Given the description of an element on the screen output the (x, y) to click on. 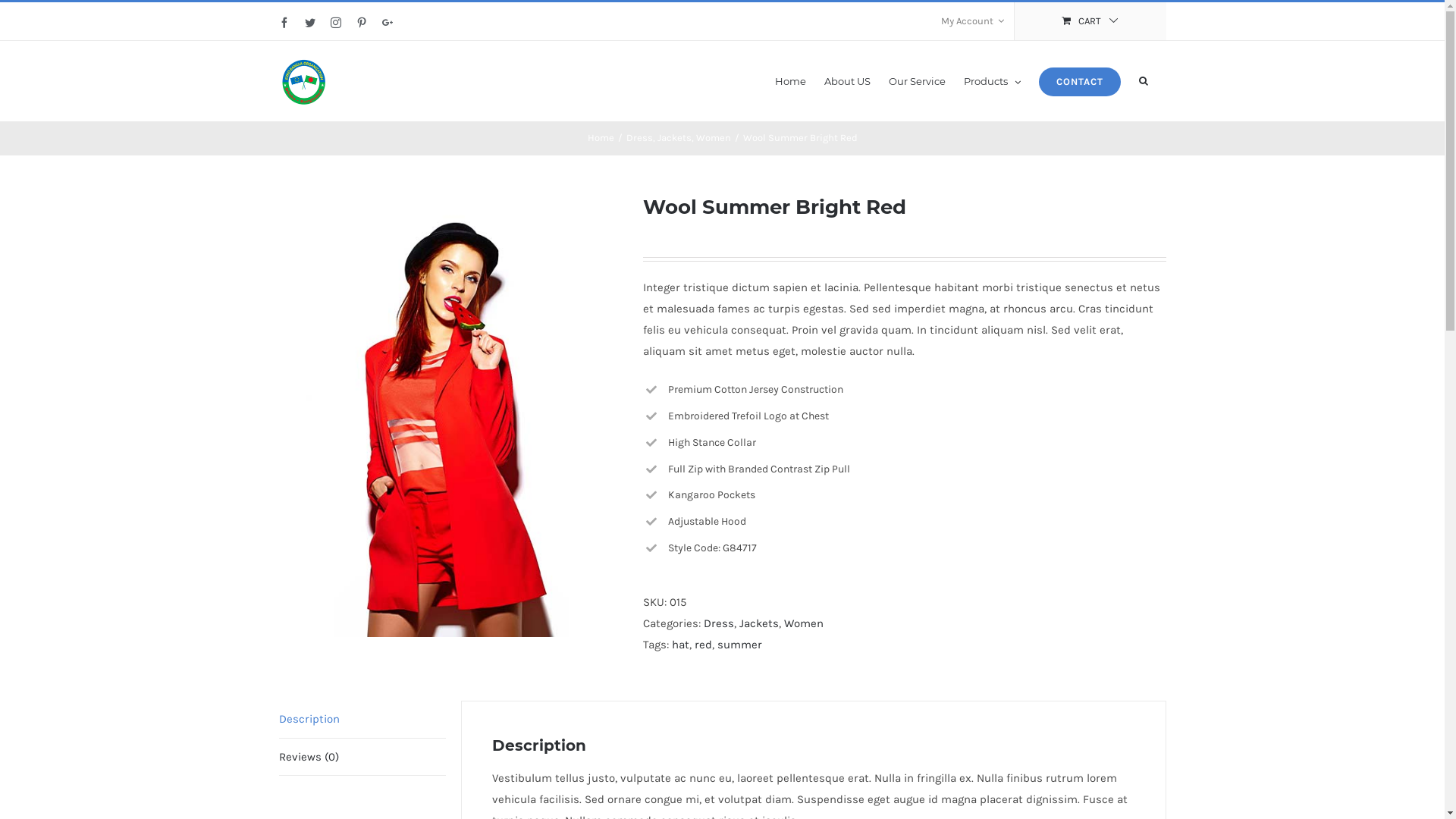
Jackets Element type: text (673, 137)
Facebook Element type: text (284, 22)
Dress Element type: text (718, 623)
Twitter Element type: text (309, 22)
Instagram Element type: text (335, 22)
My Account Element type: text (972, 21)
Search Element type: hover (1143, 79)
red Element type: text (703, 644)
Reviews (0) Element type: text (362, 756)
hat Element type: text (680, 644)
Pinterest Element type: text (361, 22)
About US Element type: text (846, 79)
CONTACT Element type: text (1079, 79)
Our Service Element type: text (916, 79)
Women Element type: text (713, 137)
Home Element type: text (790, 79)
Description Element type: text (362, 718)
Log In Element type: text (965, 165)
Home Element type: text (599, 137)
Women Element type: text (803, 623)
Google+ Element type: text (387, 22)
summer Element type: text (739, 644)
Dress Element type: text (639, 137)
CART Element type: text (1090, 21)
Jackets Element type: text (758, 623)
Products Element type: text (991, 79)
wool_summer_bright_red Element type: hover (449, 414)
